Given the description of an element on the screen output the (x, y) to click on. 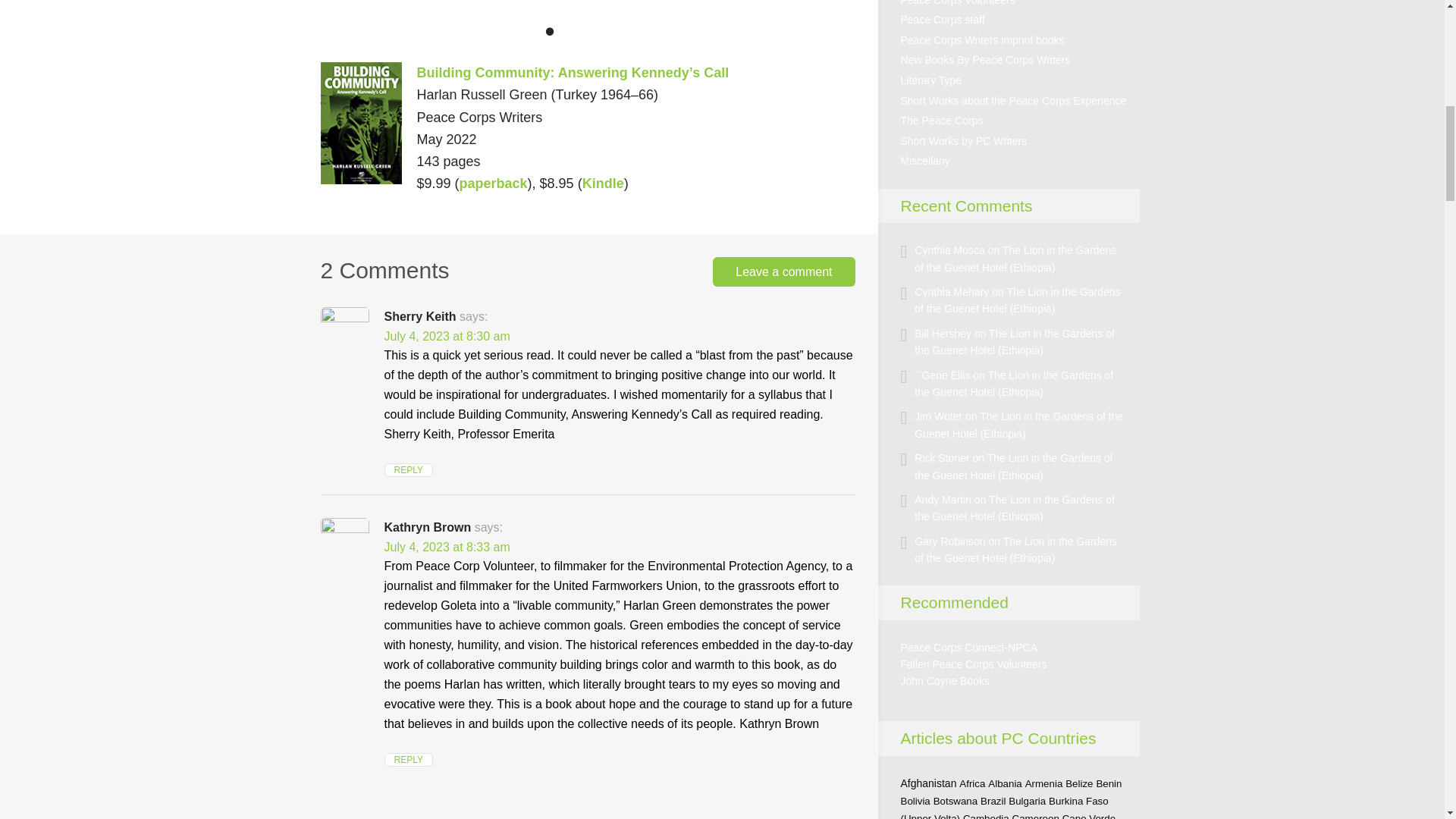
3 topics (1005, 783)
REPLY (408, 469)
July 4, 2023 at 8:30 am (446, 336)
12 topics (915, 800)
21 topics (928, 783)
12 topics (955, 800)
REPLY (408, 759)
7 topics (972, 783)
Leave a comment (783, 271)
9 topics (992, 800)
